Given the description of an element on the screen output the (x, y) to click on. 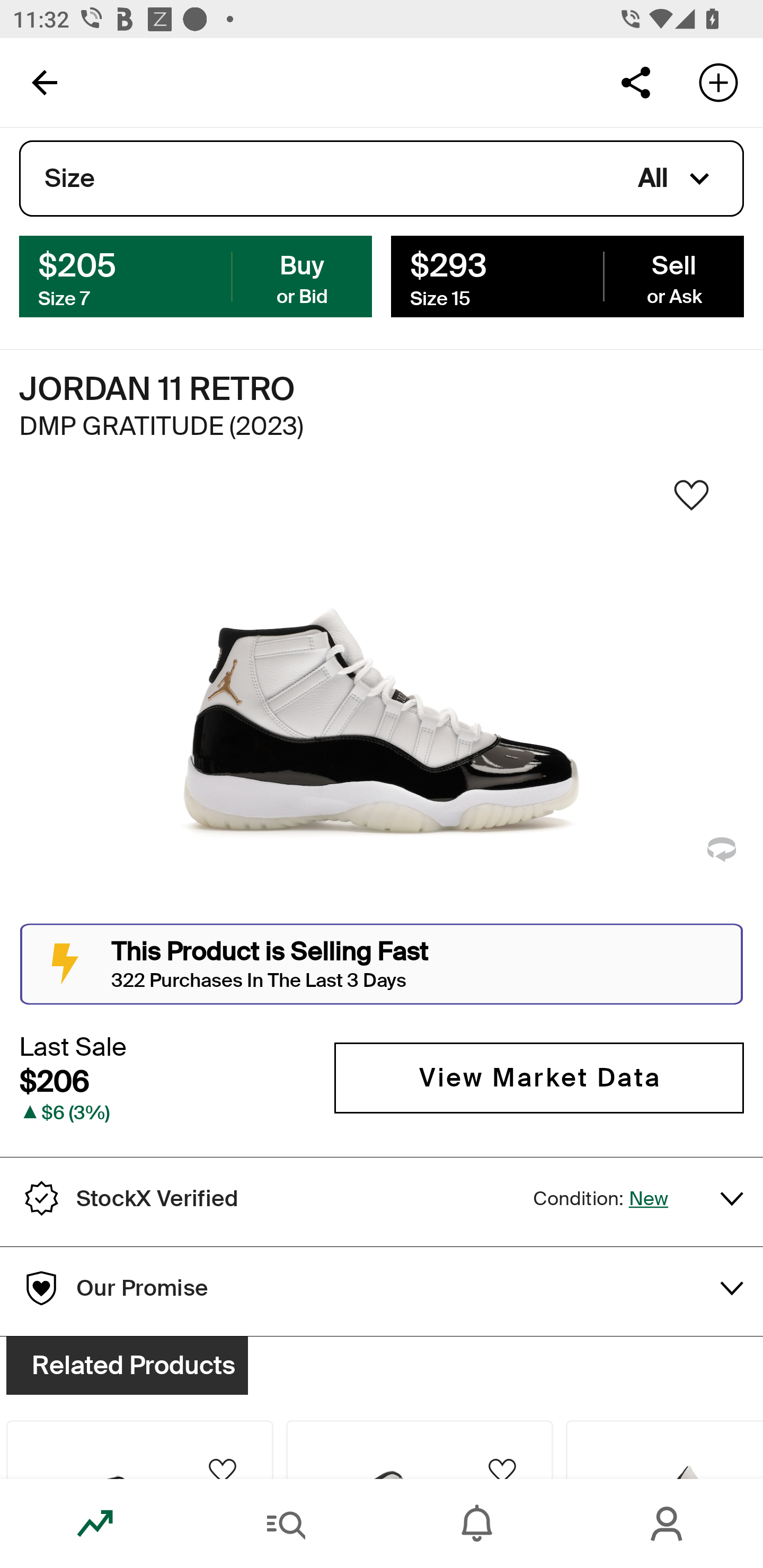
Share (635, 81)
Add (718, 81)
Size All (381, 178)
$205 Buy Size 7 or Bid (195, 275)
$293 Sell Size 15 or Ask (566, 275)
Sneaker Image (381, 699)
View Market Data (538, 1077)
Search (285, 1523)
Inbox (476, 1523)
Account (667, 1523)
